Given the description of an element on the screen output the (x, y) to click on. 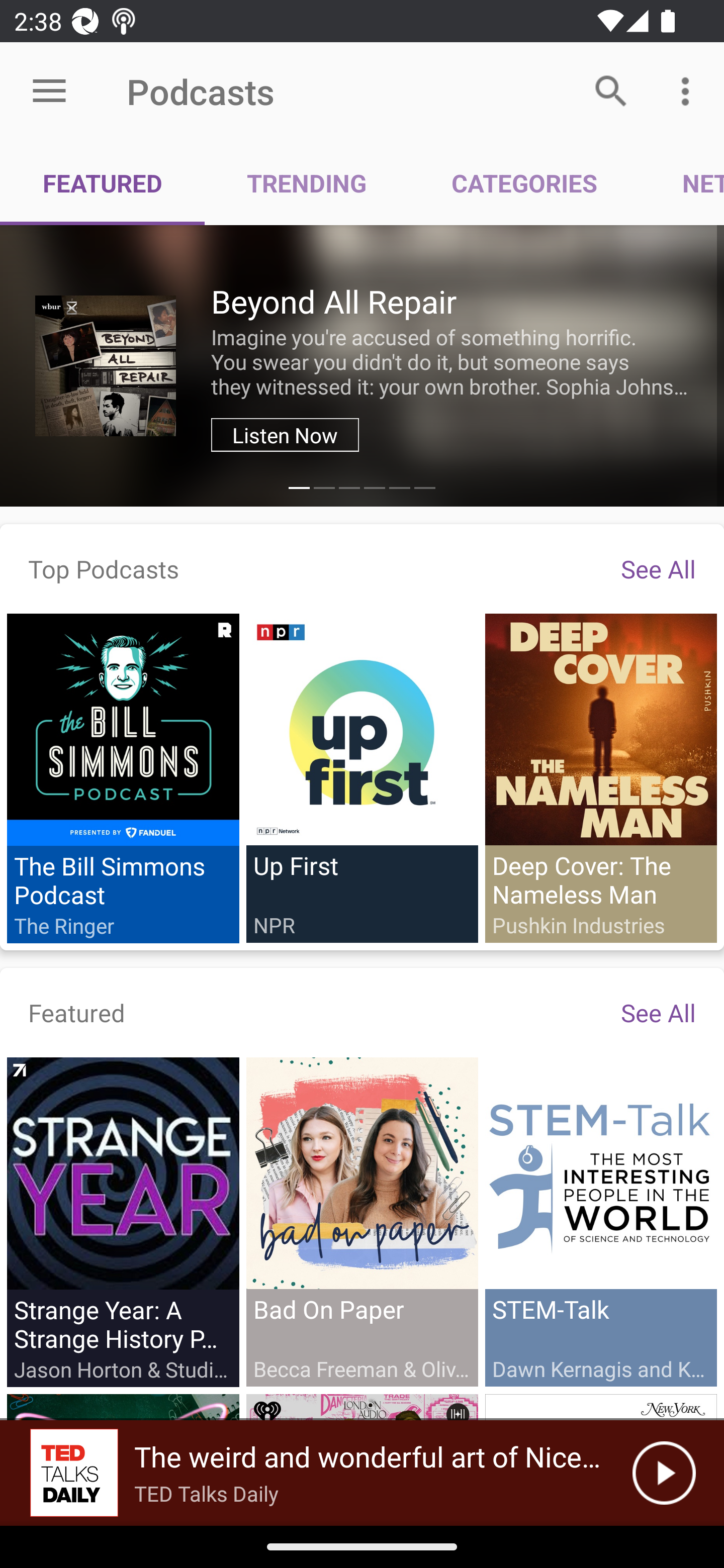
Open menu (49, 91)
Search (611, 90)
More options (688, 90)
FEATURED (102, 183)
TRENDING (306, 183)
CATEGORIES (524, 183)
Top Podcasts (103, 567)
See All (658, 567)
The Bill Simmons Podcast The Ringer (123, 778)
Up First NPR (361, 777)
Deep Cover: The Nameless Man Pushkin Industries (600, 777)
Featured (76, 1011)
See All (658, 1011)
Bad On Paper Becca Freeman & Olivia Muenter (361, 1221)
STEM-Talk Dawn Kernagis and Ken Ford (600, 1221)
Play (663, 1472)
